Given the description of an element on the screen output the (x, y) to click on. 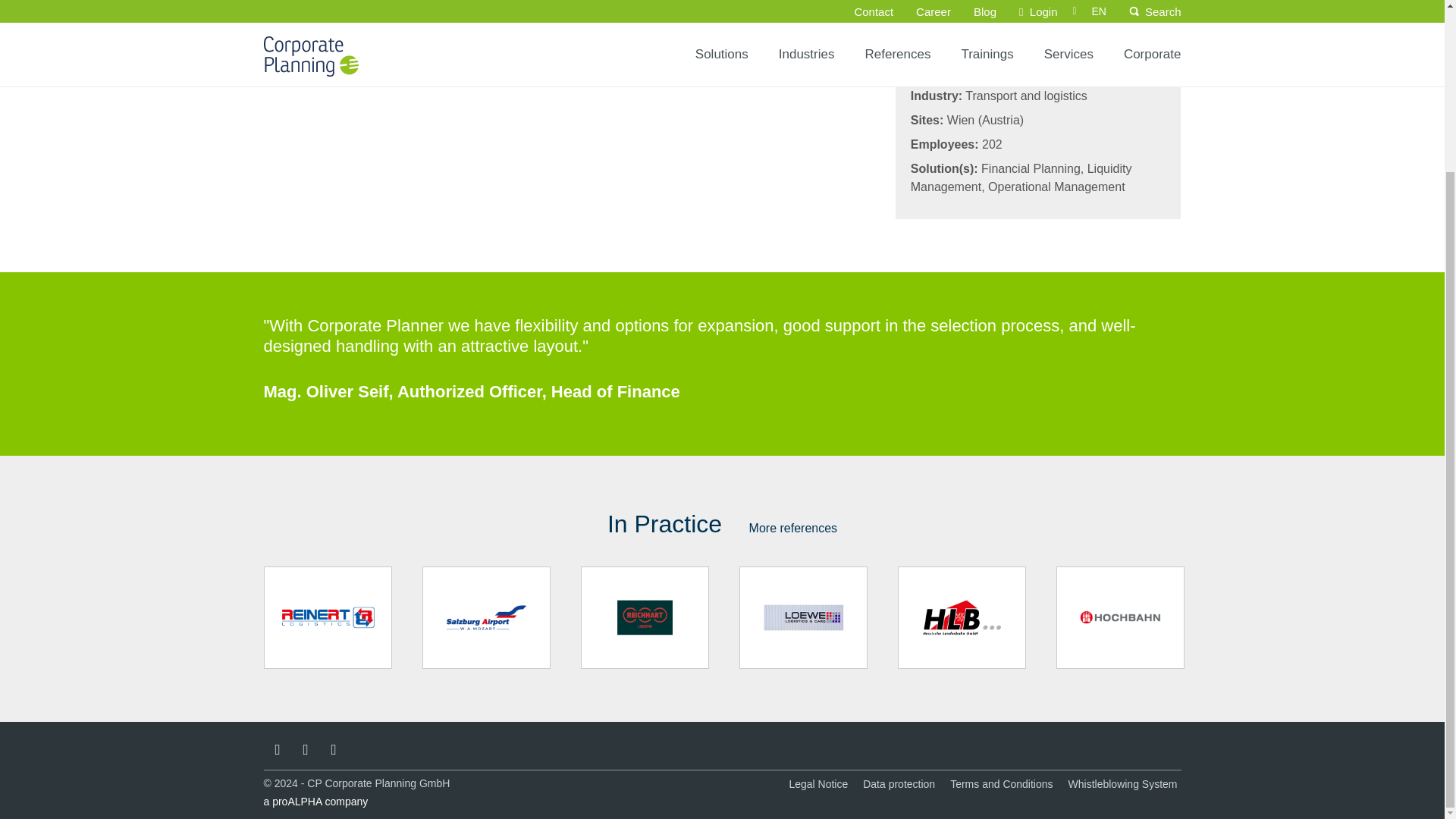
Impressum (818, 784)
